Given the description of an element on the screen output the (x, y) to click on. 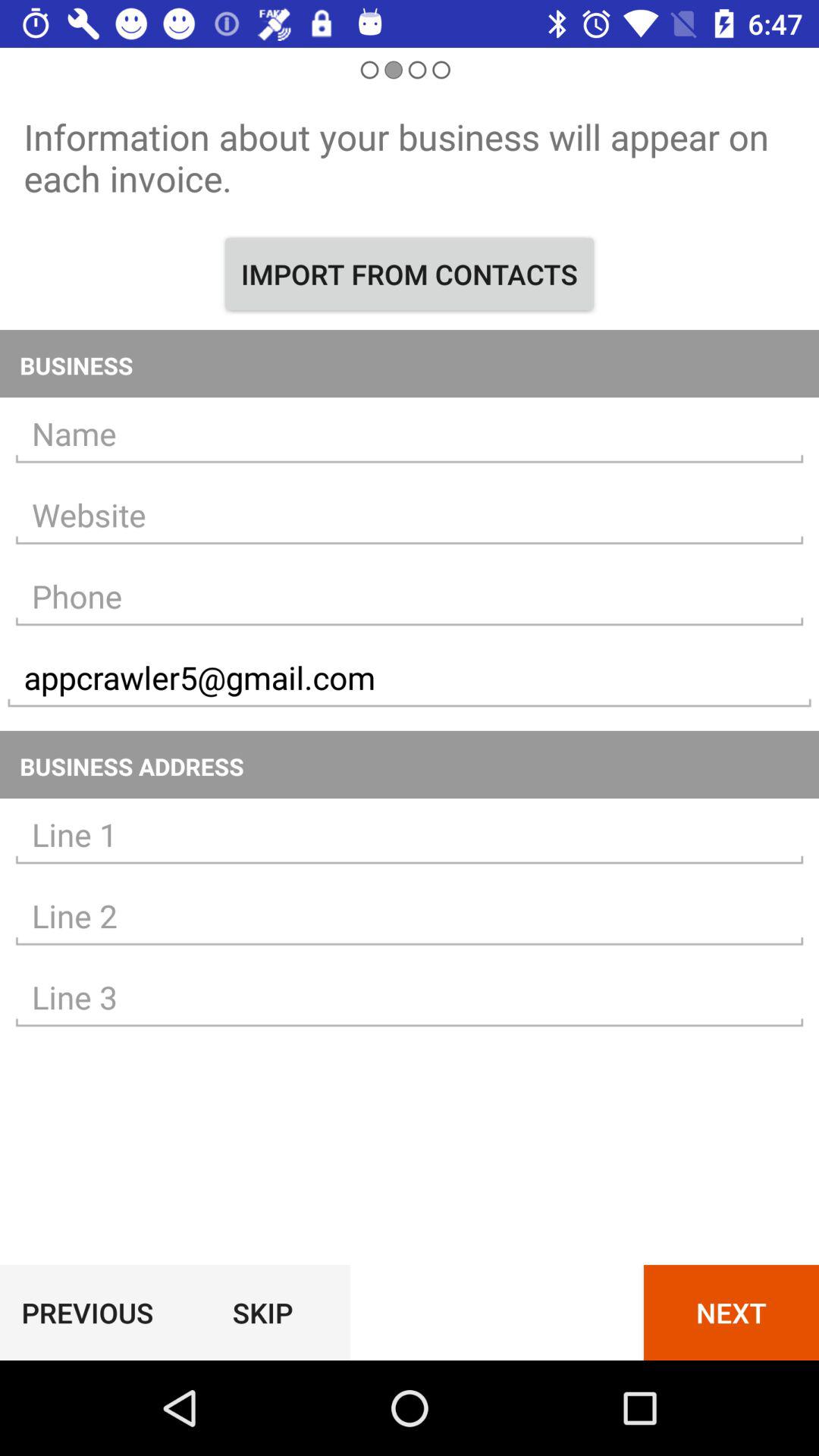
flip to the next (731, 1312)
